Given the description of an element on the screen output the (x, y) to click on. 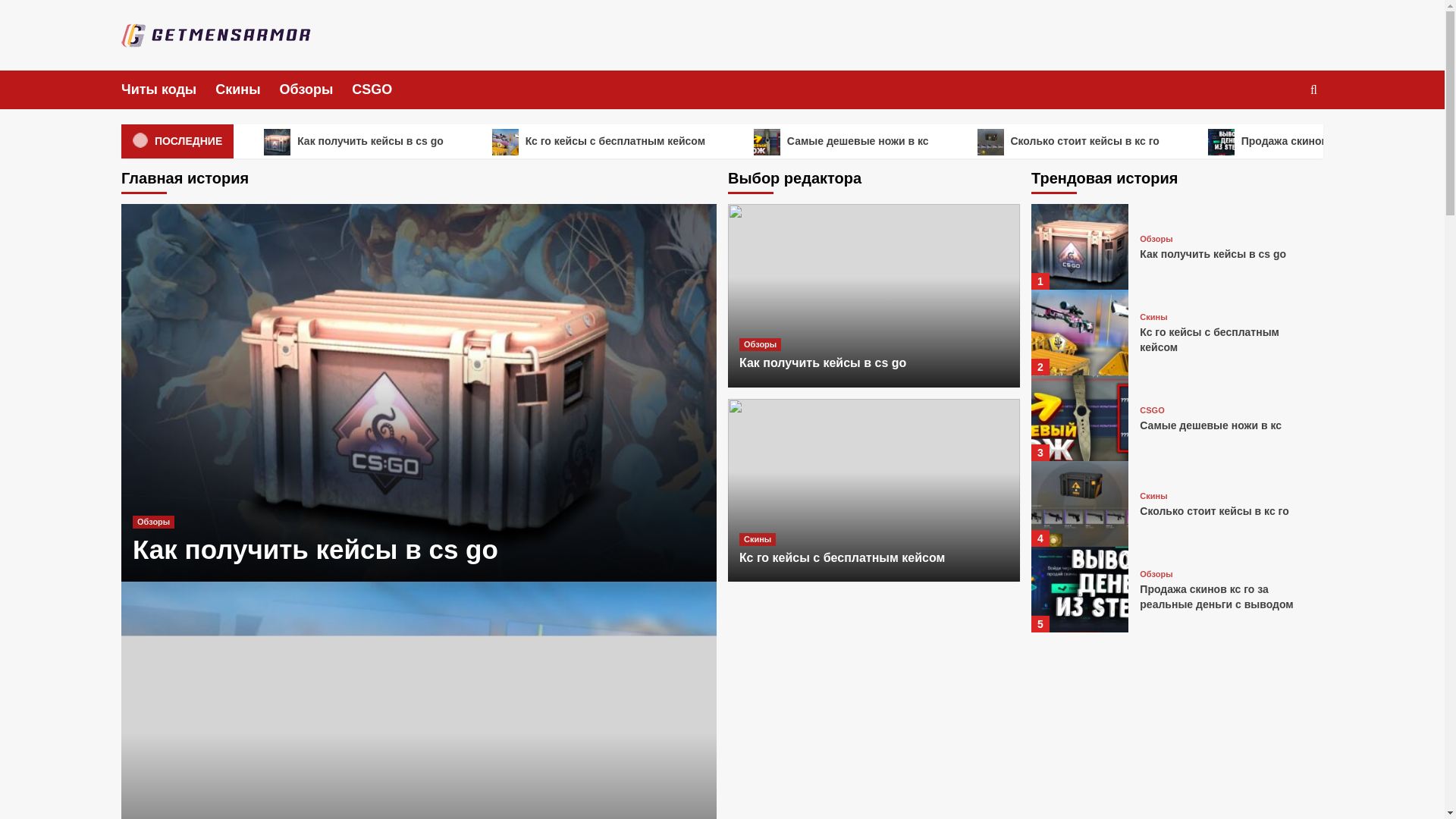
CSGO (381, 89)
